Given the description of an element on the screen output the (x, y) to click on. 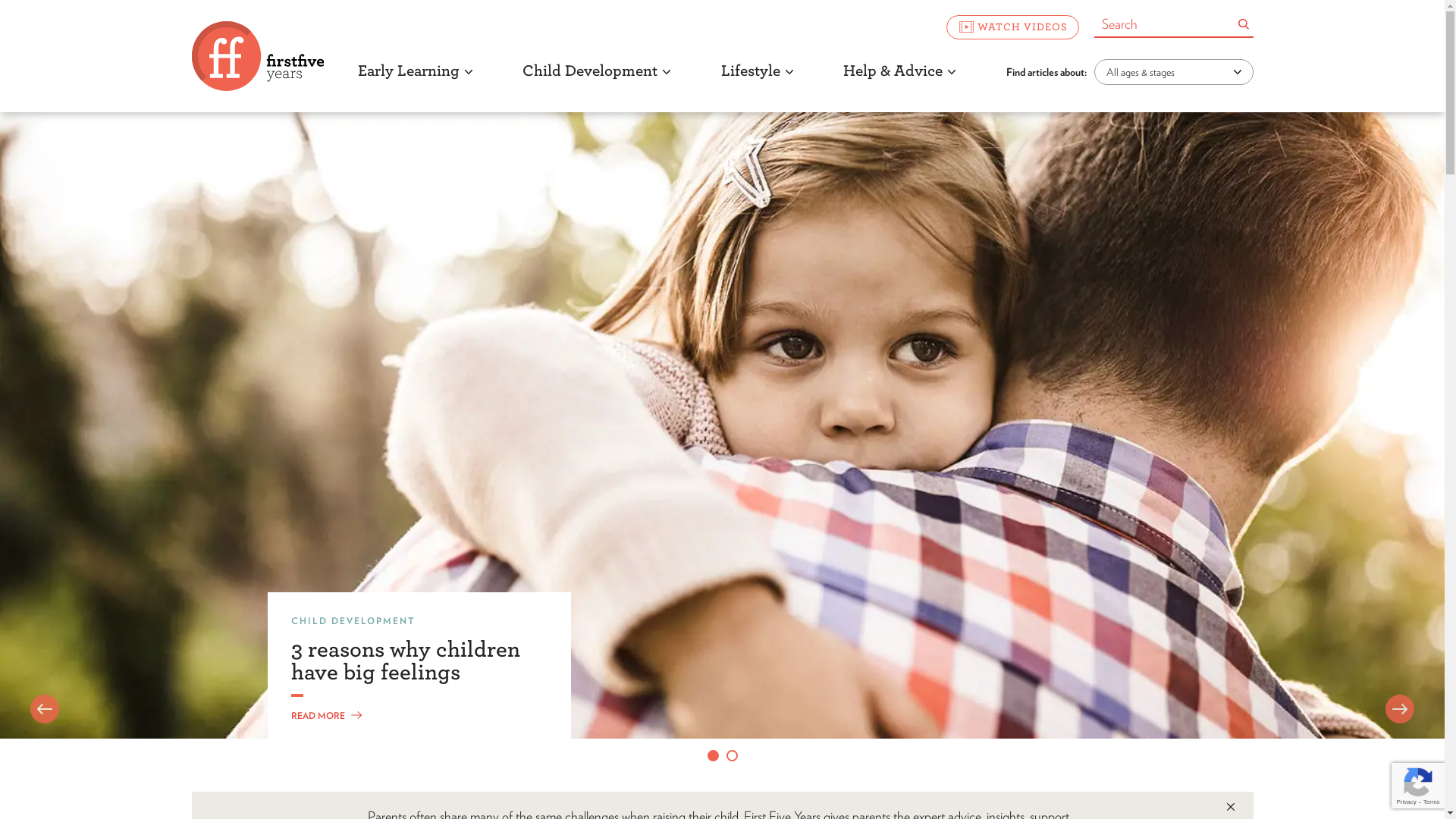
Next Element type: text (1399, 708)
2 Element type: text (732, 764)
All ages & stages Element type: text (1172, 71)
Previous Element type: text (44, 708)
WATCH VIDEOS Element type: text (1012, 27)
Early Learning Element type: text (414, 82)
Close Element type: text (1229, 806)
Child Development Element type: text (596, 82)
1 Element type: text (712, 764)
Help & Advice Element type: text (898, 82)
Lifestyle Element type: text (756, 82)
Search Element type: text (1242, 24)
First Five Years Element type: hover (257, 55)
